Given the description of an element on the screen output the (x, y) to click on. 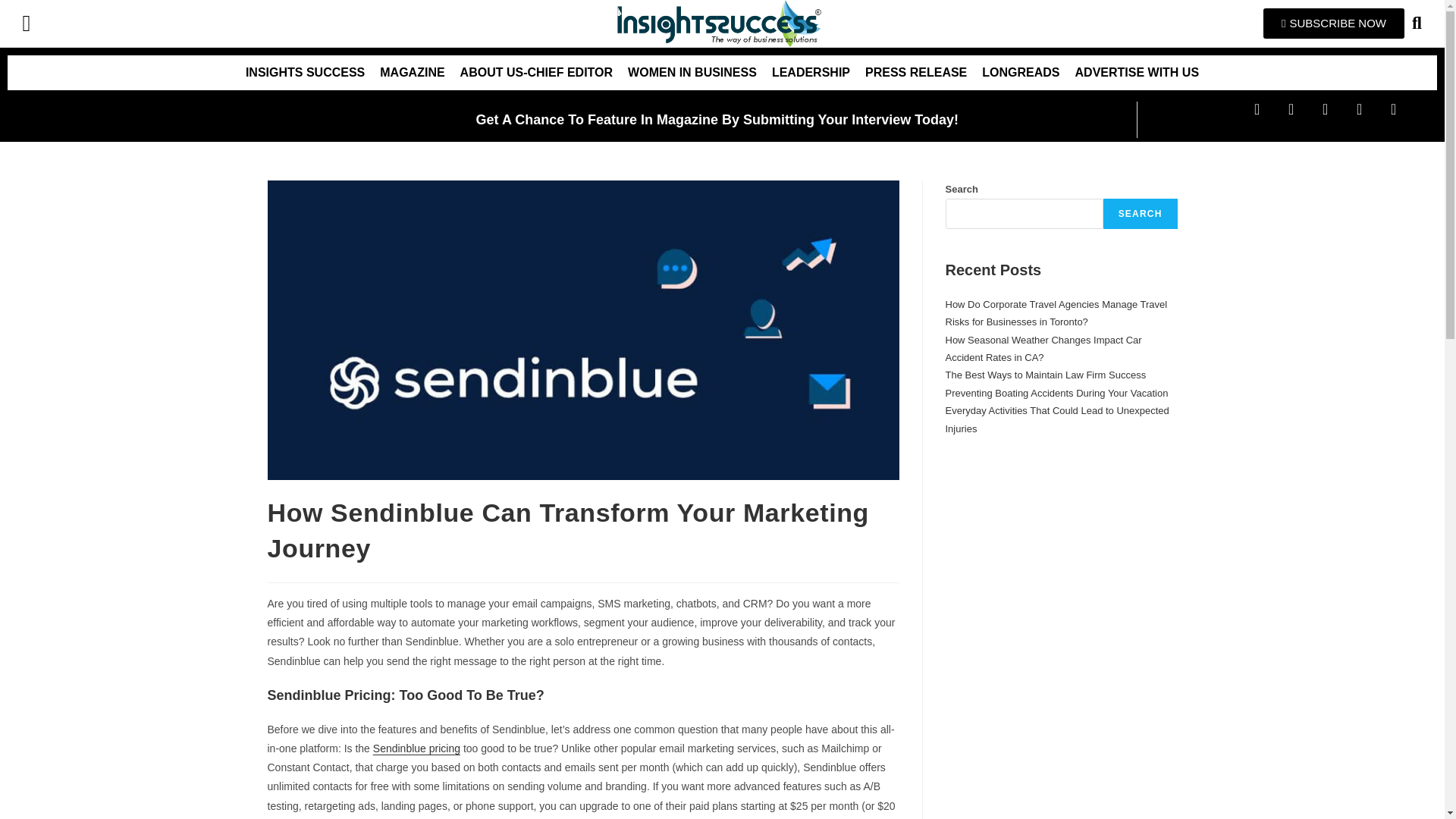
Preventing Boating Accidents During Your Vacation (1055, 392)
ABOUT US-CHIEF EDITOR (536, 72)
PRESS RELEASE (915, 72)
Sendinblue pricing (416, 748)
MAGAZINE (411, 72)
INSIGHTS SUCCESS (305, 72)
LEADERSHIP (810, 72)
ADVERTISE WITH US (1137, 72)
Everyday Activities That Could Lead to Unexpected Injuries (1056, 419)
